Given the description of an element on the screen output the (x, y) to click on. 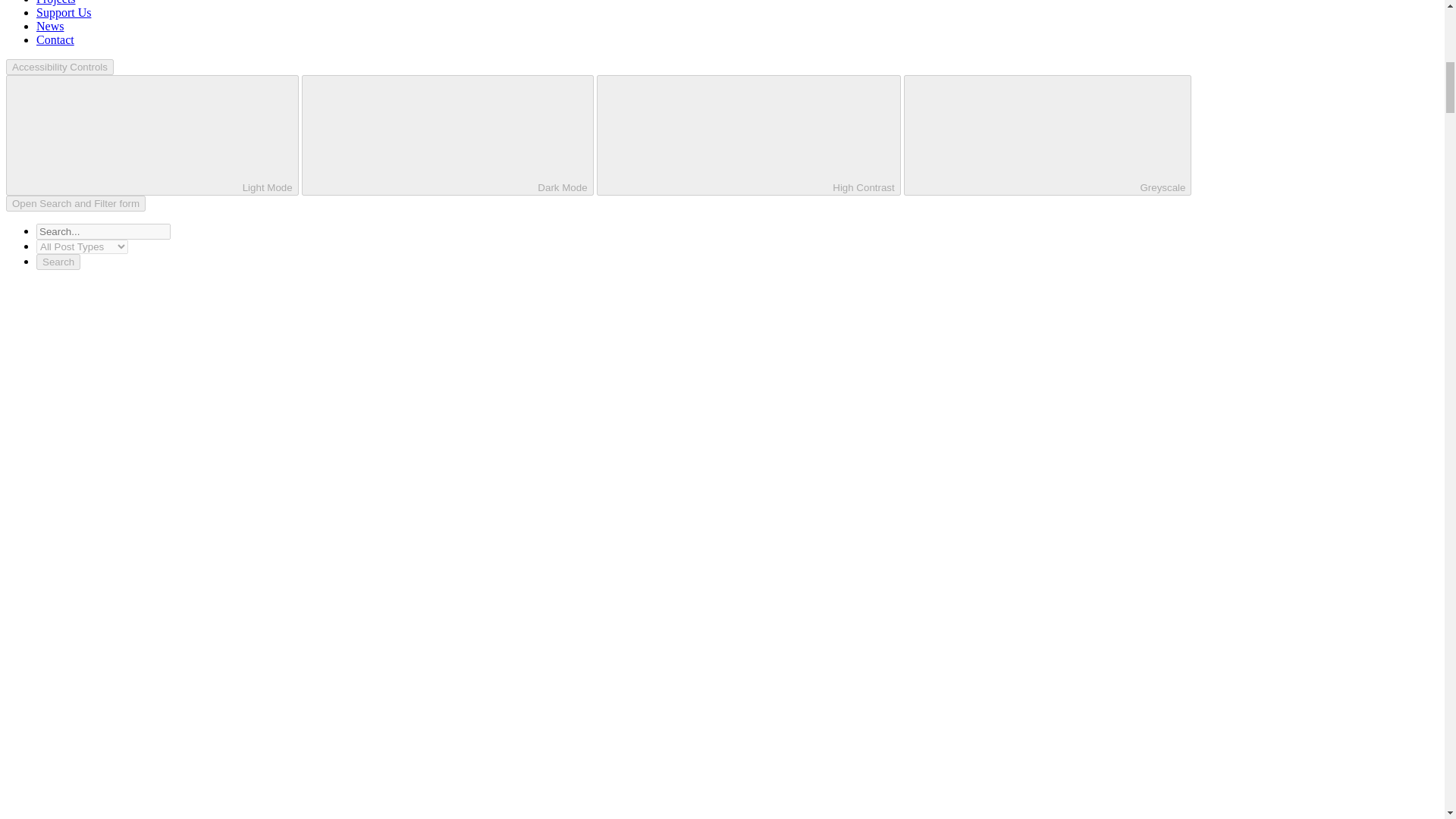
Projects (55, 2)
Support Us (63, 11)
Light Mode (151, 135)
Dark Mode (447, 135)
News (50, 25)
Contact (55, 39)
Accessibility Controls (59, 66)
High Contrast (748, 135)
Open Search and Filter form (75, 203)
Search (58, 261)
